Given the description of an element on the screen output the (x, y) to click on. 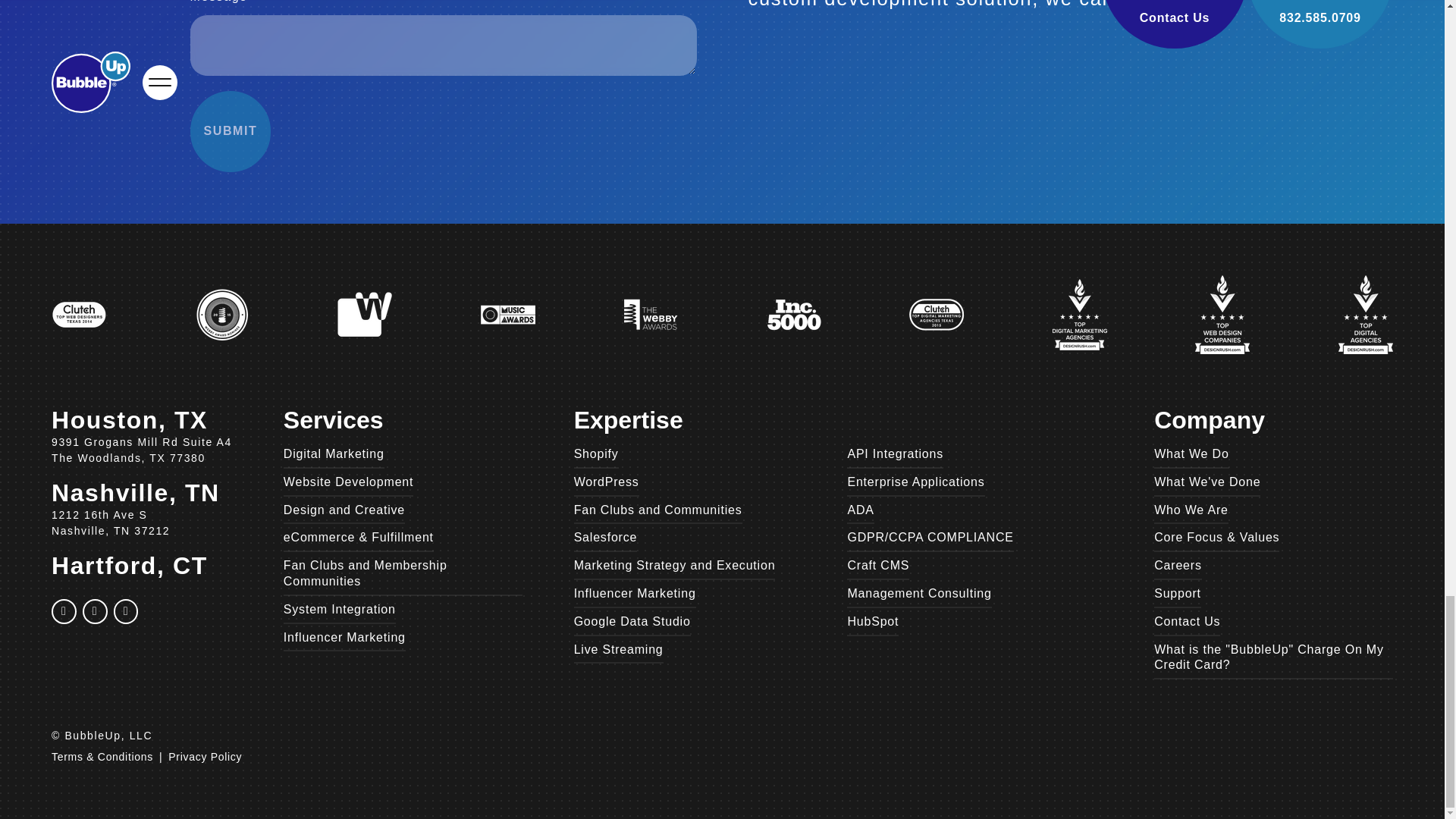
Management Consulting (919, 593)
Salesforce (605, 538)
Influencer Marketing (344, 637)
Fan Clubs and Communities (657, 510)
Website Development (348, 482)
Live Streaming (618, 650)
Craft CMS (877, 565)
ADA (860, 510)
Marketing Strategy and Execution (674, 565)
Shopify (595, 454)
